Given the description of an element on the screen output the (x, y) to click on. 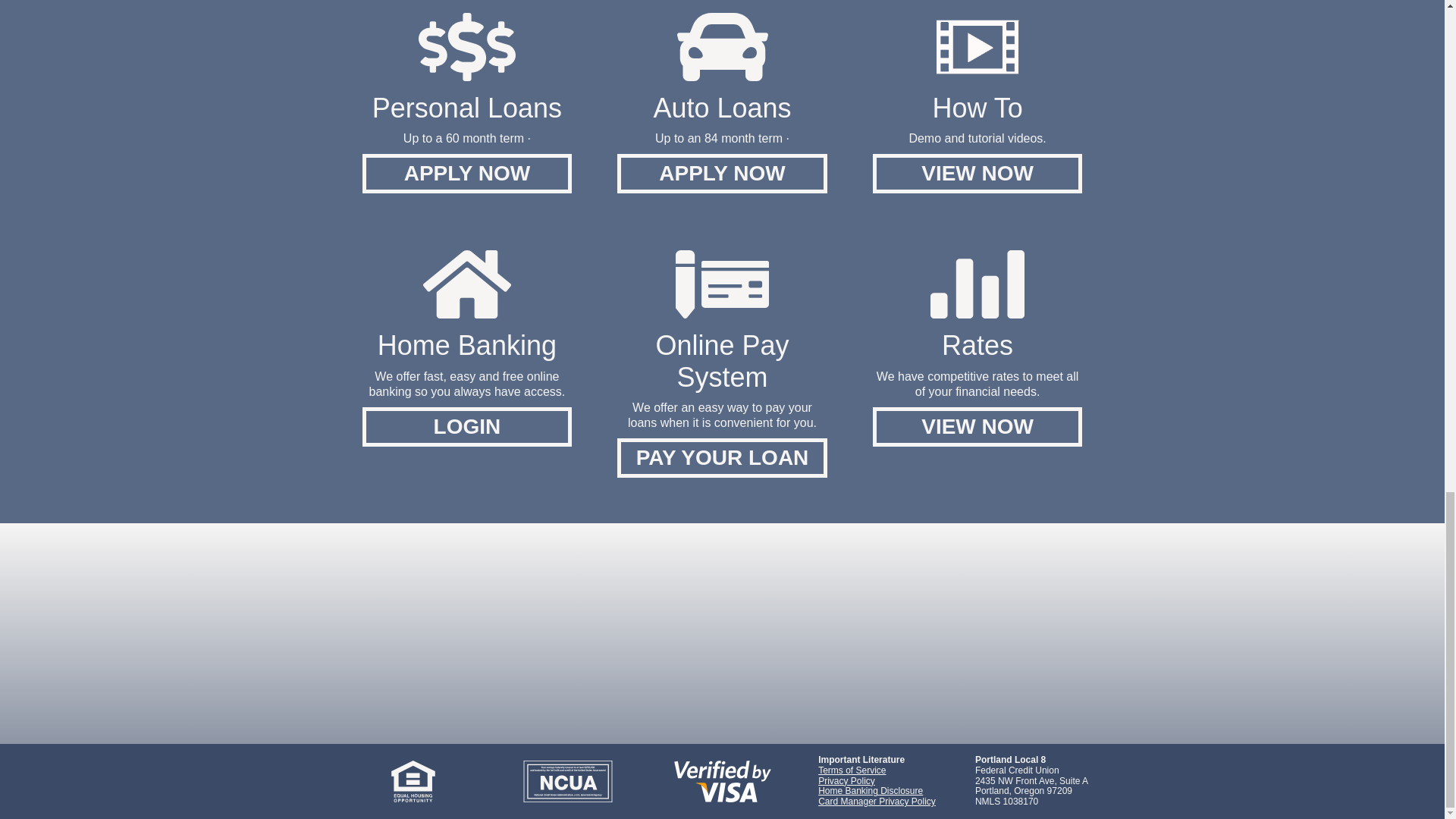
PAY YOUR LOAN (722, 457)
VIEW NOW (977, 173)
APPLY NOW (467, 173)
APPLY NOW (722, 173)
VIEW NOW (977, 426)
LOGIN (467, 426)
